Given the description of an element on the screen output the (x, y) to click on. 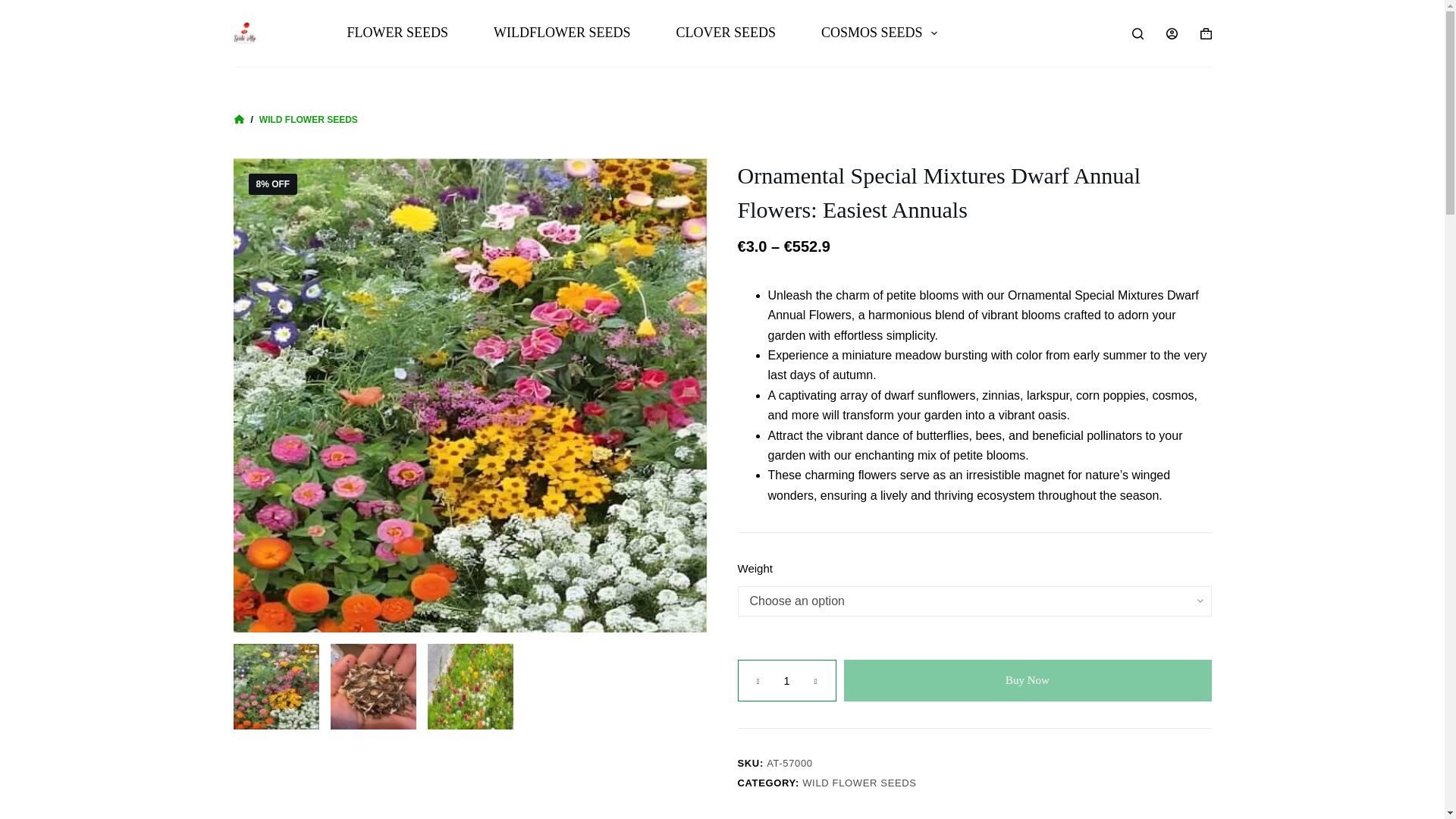
easiest annual flowers to grow (470, 686)
Shopping cart (1205, 32)
Ornamental-Special-Mixtures-Dwarf-annual-flowers (275, 686)
FLOWER SEEDS (397, 33)
Skip to content (15, 7)
WILDFLOWER SEEDS (561, 33)
1 (785, 680)
easiest annuals (373, 686)
COSMOS SEEDS (878, 33)
